Given the description of an element on the screen output the (x, y) to click on. 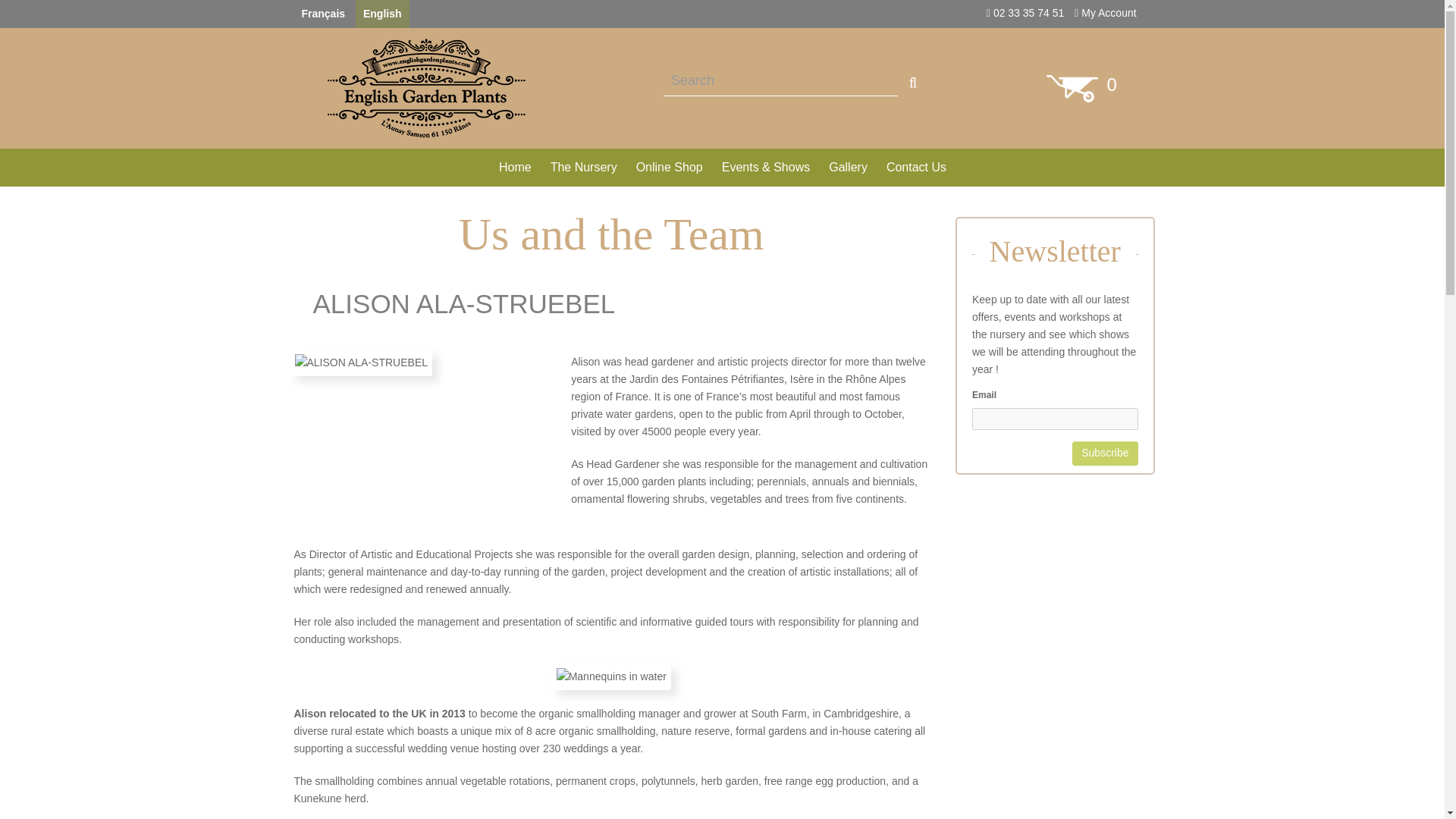
The Nursery (583, 167)
English (382, 13)
My Account (1104, 12)
Subscribe (1104, 453)
  0 (1080, 88)
My Account (1104, 12)
Online Shop (669, 167)
Home (514, 167)
English Garden Plants (426, 88)
